Given the description of an element on the screen output the (x, y) to click on. 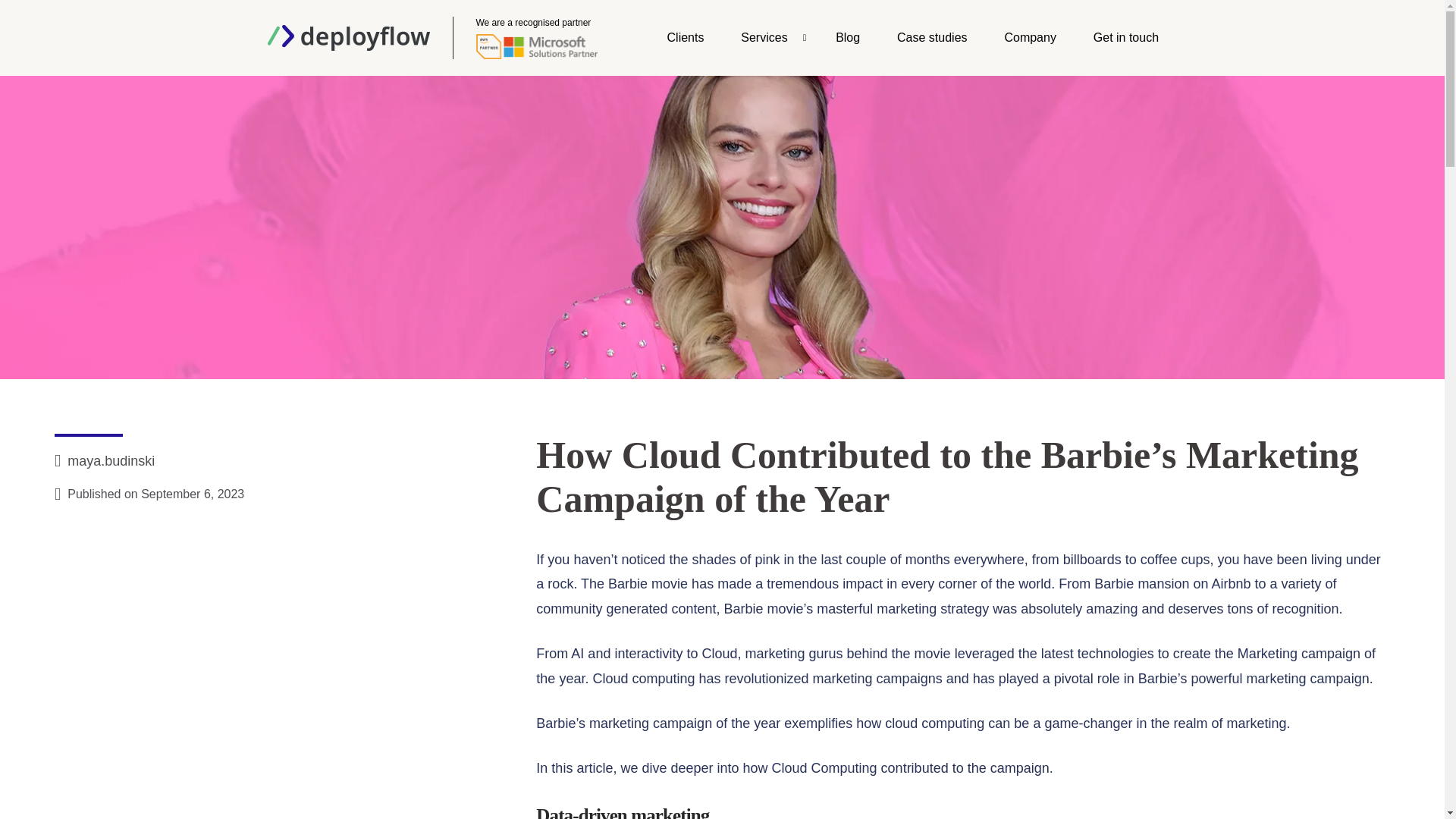
Blog (847, 38)
Clients (684, 38)
Services (769, 38)
Case studies (932, 38)
Get in touch (1125, 38)
Company (1029, 38)
